Given the description of an element on the screen output the (x, y) to click on. 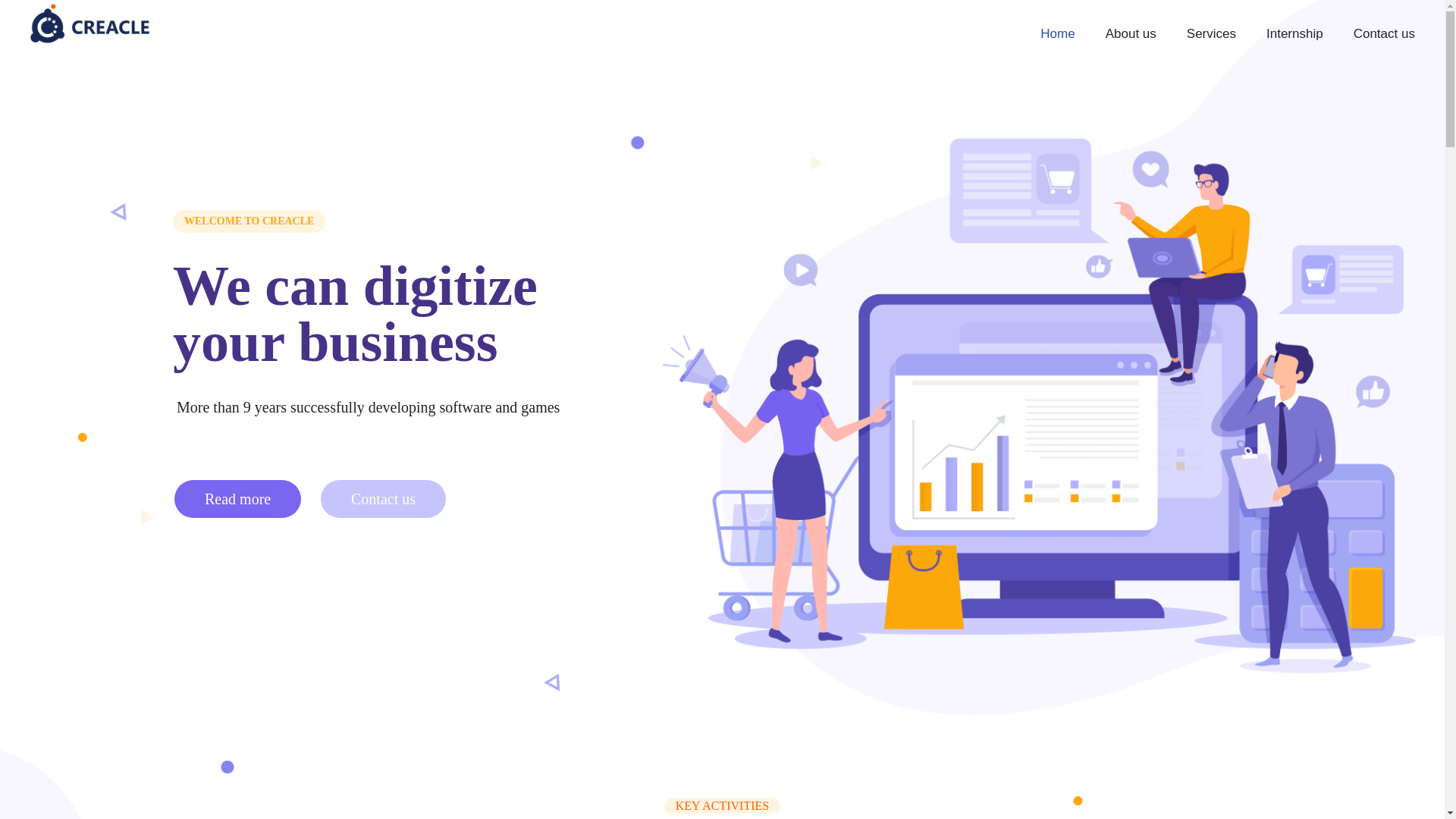
Contact us (382, 498)
Creacle Studio (89, 22)
Home (1057, 33)
Read more (237, 498)
Services (1211, 33)
About us (1131, 33)
Contact us (1383, 33)
Internship (1294, 33)
